Given the description of an element on the screen output the (x, y) to click on. 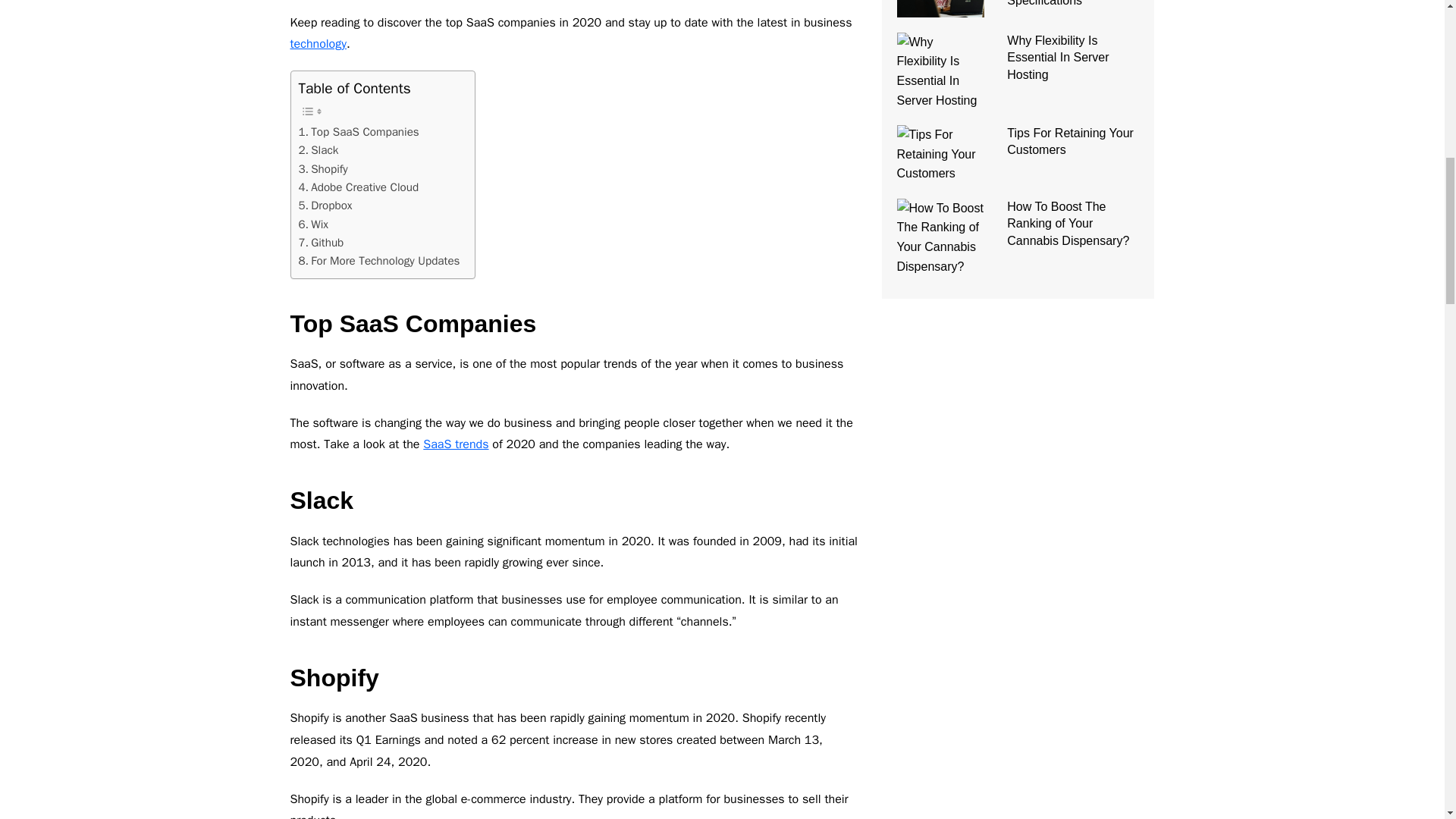
Top SaaS Companies (358, 131)
Shopify (322, 168)
Slack (318, 149)
Dropbox (325, 205)
Wix (313, 224)
Github (320, 242)
Adobe Creative Cloud (358, 187)
technology (317, 43)
Slack (318, 149)
For More Technology Updates (379, 260)
Top SaaS Companies (358, 131)
